Given the description of an element on the screen output the (x, y) to click on. 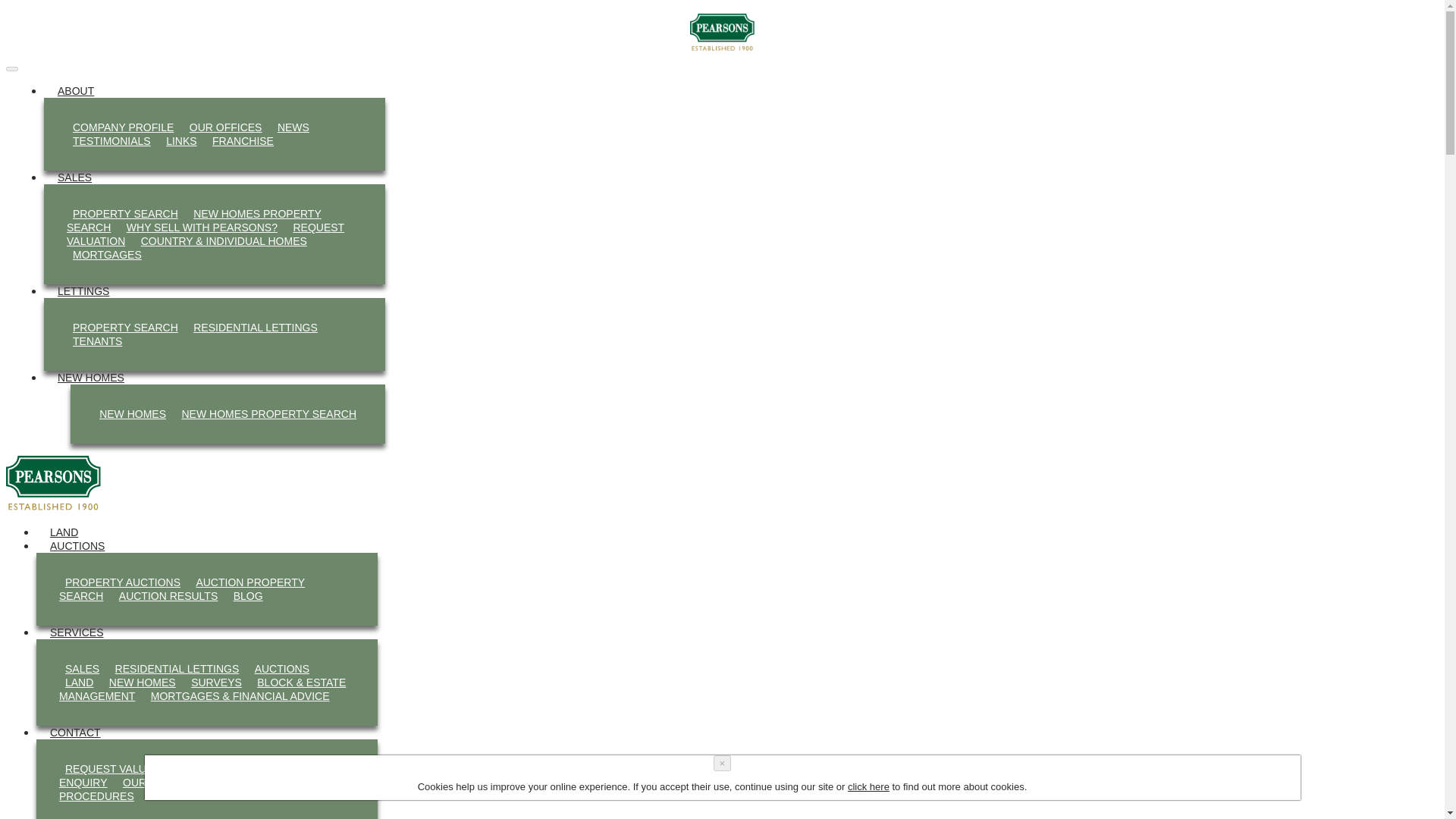
NEW HOMES (142, 681)
LETTINGS (82, 290)
FRANCHISE (242, 140)
TENANTS (97, 341)
PROPERTY SEARCH (125, 327)
PROPERTY AUCTIONS (122, 581)
WHY SELL WITH PEARSONS? (201, 227)
AUCTIONS (281, 668)
TESTIMONIALS (111, 140)
RESIDENTIAL LETTINGS (177, 668)
